Given the description of an element on the screen output the (x, y) to click on. 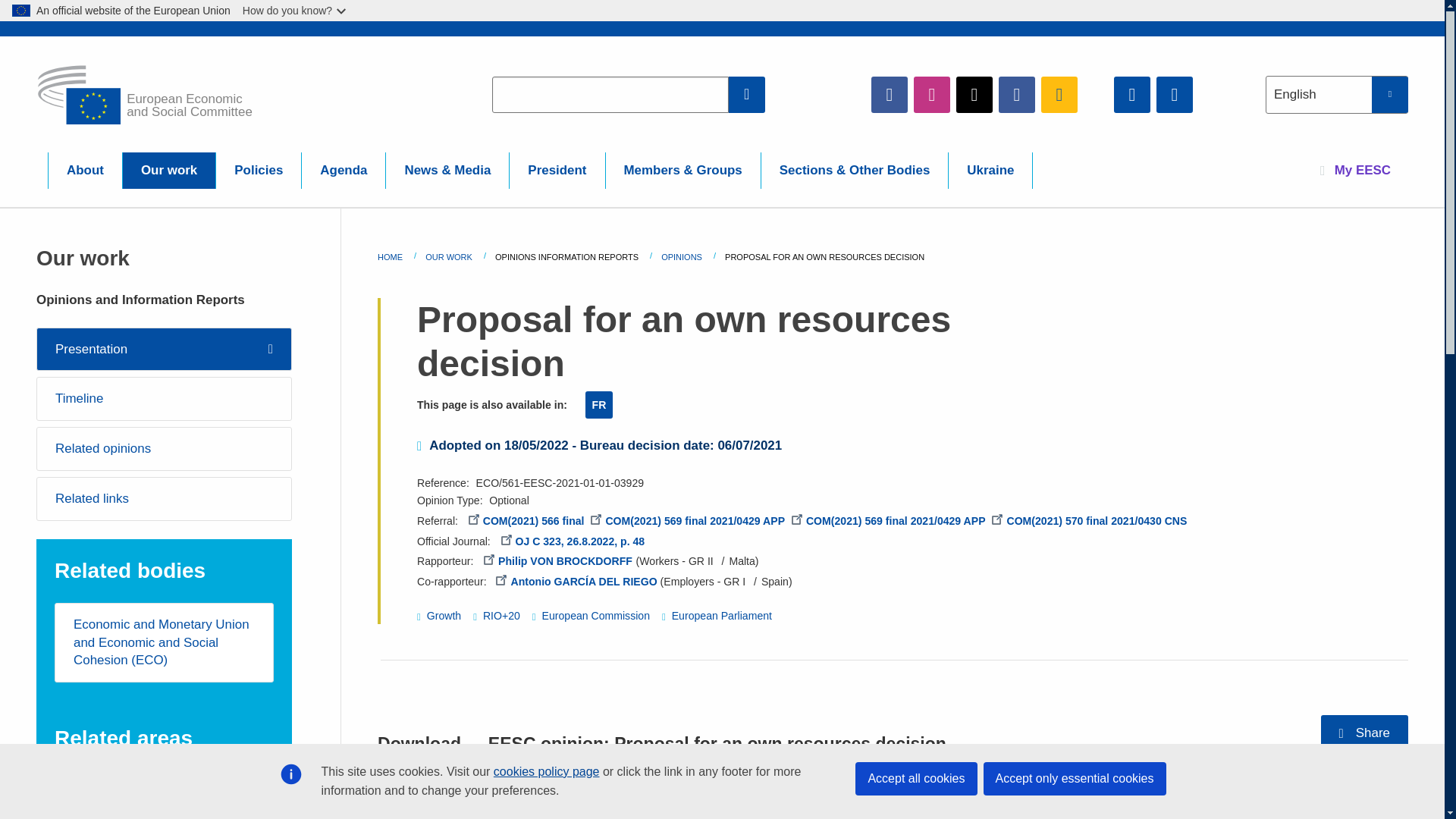
Accept only essential cookies (1074, 778)
Accept all cookies (916, 778)
How do you know? (295, 10)
Search EESC Website (747, 94)
cookies policy page (546, 771)
My EESC (1355, 170)
